Given the description of an element on the screen output the (x, y) to click on. 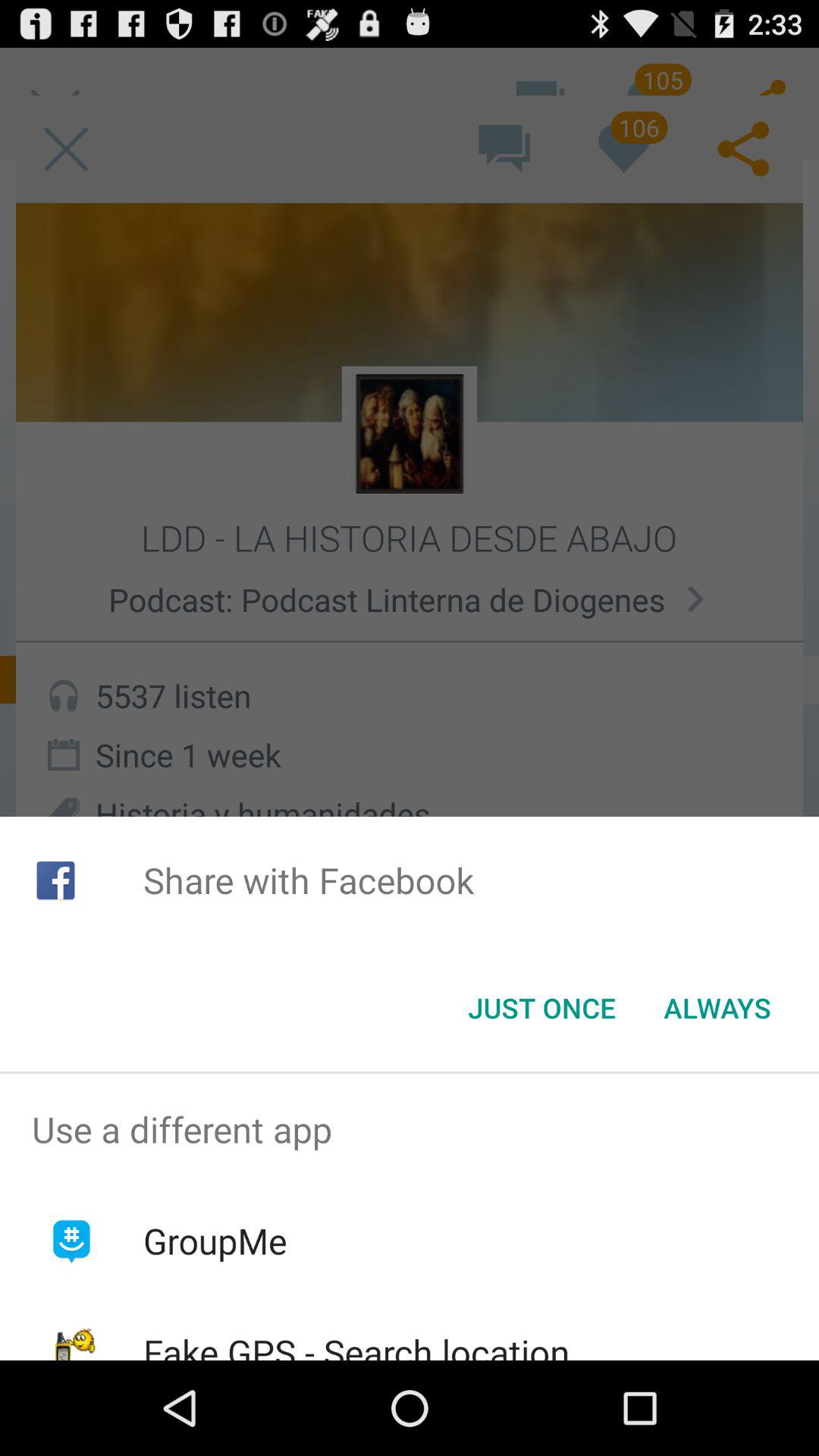
select always item (717, 1007)
